Given the description of an element on the screen output the (x, y) to click on. 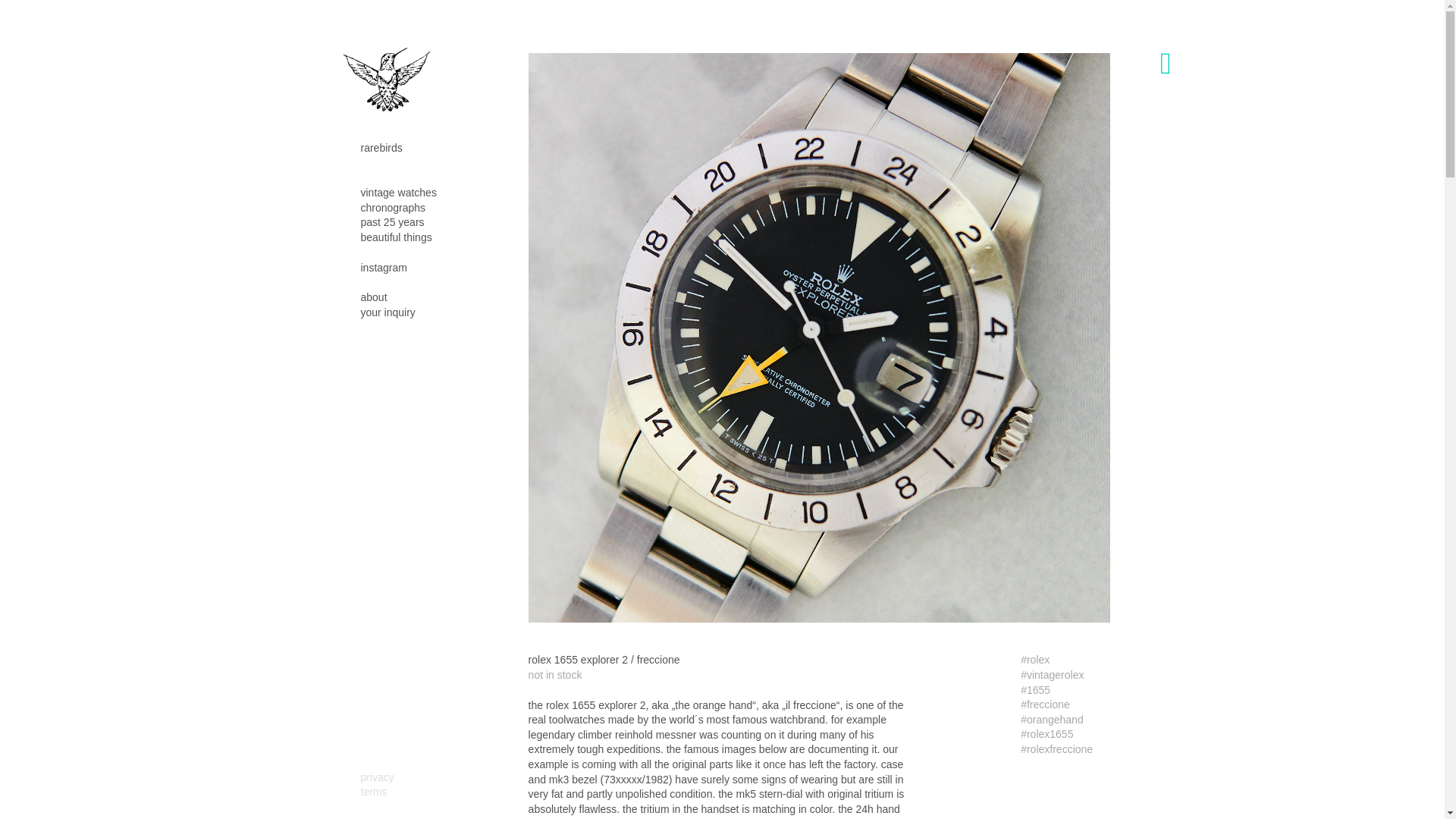
about (374, 297)
past 25 years (393, 222)
beautiful things (396, 237)
privacy (377, 777)
terms (374, 792)
chronographs (393, 208)
rarebirds (382, 148)
instagram (384, 268)
vintage watches (398, 192)
your inquiry (387, 313)
